Given the description of an element on the screen output the (x, y) to click on. 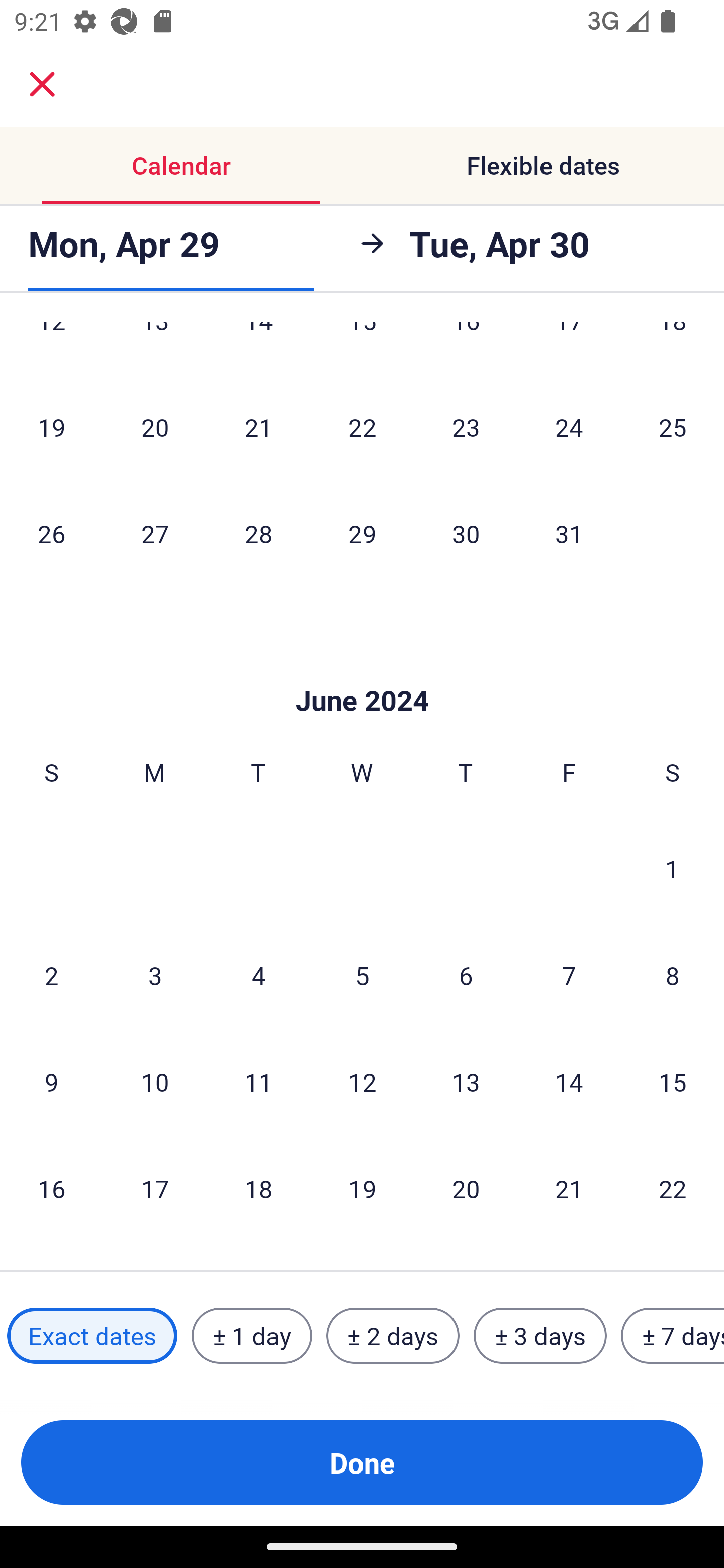
close. (42, 84)
Flexible dates (542, 164)
19 Sunday, May 19, 2024 (51, 426)
20 Monday, May 20, 2024 (155, 426)
21 Tuesday, May 21, 2024 (258, 426)
22 Wednesday, May 22, 2024 (362, 426)
23 Thursday, May 23, 2024 (465, 426)
24 Friday, May 24, 2024 (569, 426)
25 Saturday, May 25, 2024 (672, 426)
26 Sunday, May 26, 2024 (51, 532)
27 Monday, May 27, 2024 (155, 532)
28 Tuesday, May 28, 2024 (258, 532)
29 Wednesday, May 29, 2024 (362, 532)
30 Thursday, May 30, 2024 (465, 532)
31 Friday, May 31, 2024 (569, 532)
Skip to Done (362, 669)
1 Saturday, June 1, 2024 (672, 868)
2 Sunday, June 2, 2024 (51, 975)
3 Monday, June 3, 2024 (155, 975)
4 Tuesday, June 4, 2024 (258, 975)
5 Wednesday, June 5, 2024 (362, 975)
6 Thursday, June 6, 2024 (465, 975)
7 Friday, June 7, 2024 (569, 975)
8 Saturday, June 8, 2024 (672, 975)
9 Sunday, June 9, 2024 (51, 1081)
10 Monday, June 10, 2024 (155, 1081)
11 Tuesday, June 11, 2024 (258, 1081)
12 Wednesday, June 12, 2024 (362, 1081)
13 Thursday, June 13, 2024 (465, 1081)
14 Friday, June 14, 2024 (569, 1081)
15 Saturday, June 15, 2024 (672, 1081)
16 Sunday, June 16, 2024 (51, 1188)
17 Monday, June 17, 2024 (155, 1188)
18 Tuesday, June 18, 2024 (258, 1188)
19 Wednesday, June 19, 2024 (362, 1188)
20 Thursday, June 20, 2024 (465, 1188)
21 Friday, June 21, 2024 (569, 1188)
22 Saturday, June 22, 2024 (672, 1188)
Exact dates (92, 1335)
± 1 day (251, 1335)
± 2 days (392, 1335)
± 3 days (539, 1335)
± 7 days (672, 1335)
Done (361, 1462)
